Given the description of an element on the screen output the (x, y) to click on. 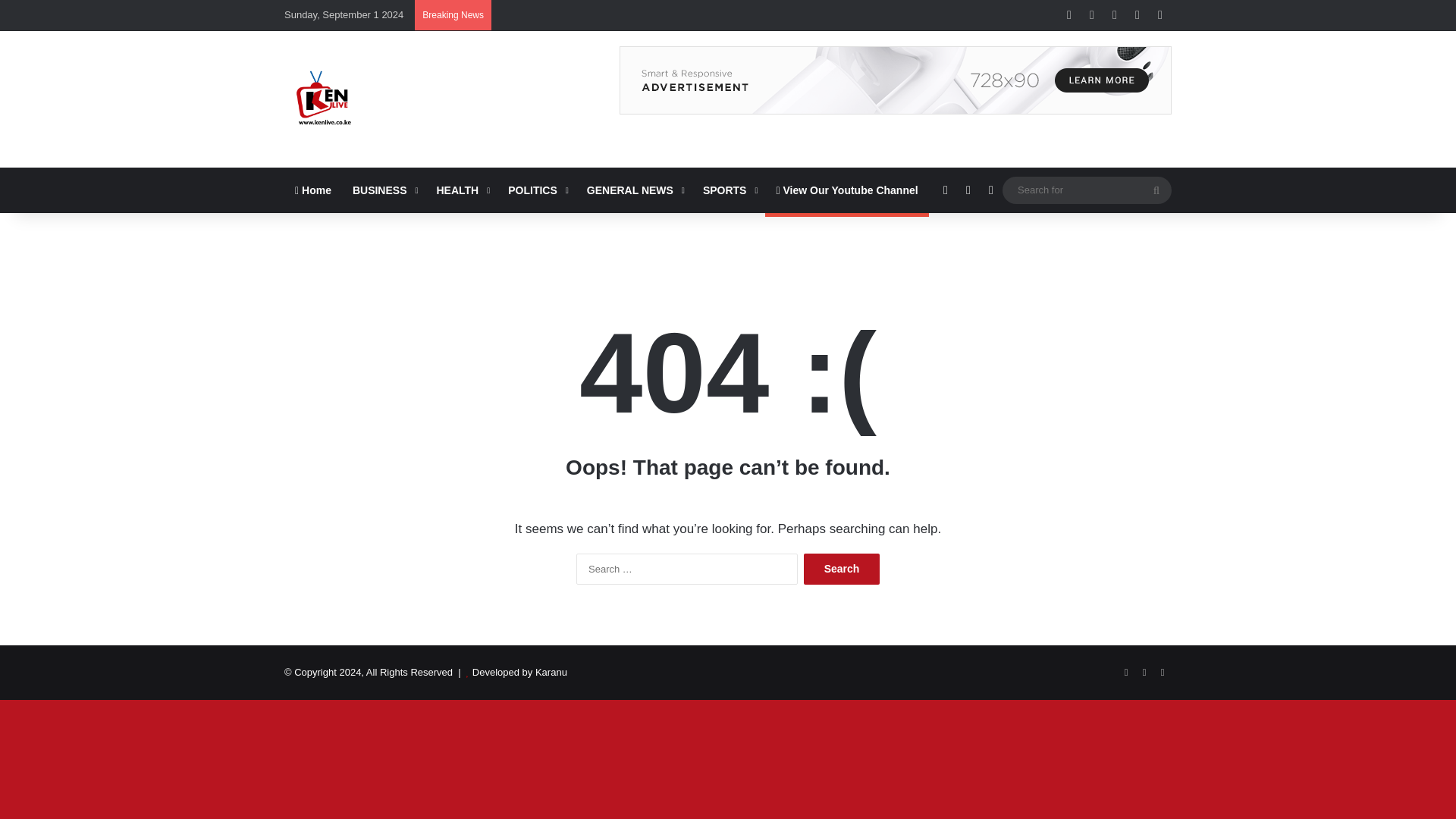
POLITICS (536, 189)
BUSINESS (384, 189)
Search (841, 568)
View Our Youtube Channel (846, 189)
Search for (1087, 189)
Kenlive (321, 99)
Search for (1156, 189)
YouTube (1162, 672)
Search (841, 568)
X (1144, 672)
